Given the description of an element on the screen output the (x, y) to click on. 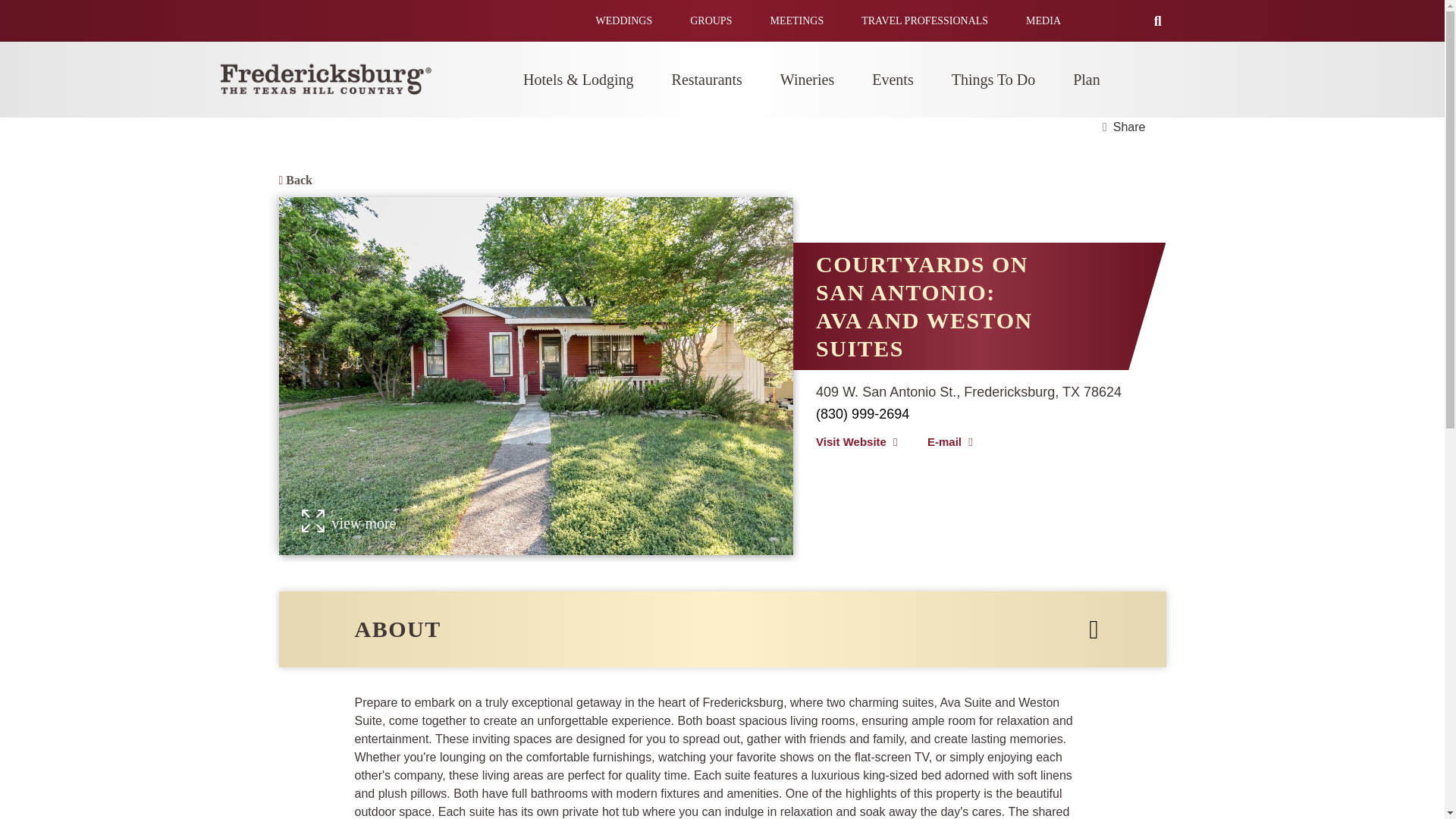
Restaurants (706, 79)
WEDDINGS (623, 20)
MEDIA (1043, 20)
GROUPS (711, 20)
MEETINGS (797, 20)
TRAVEL PROFESSIONALS (924, 20)
